Given the description of an element on the screen output the (x, y) to click on. 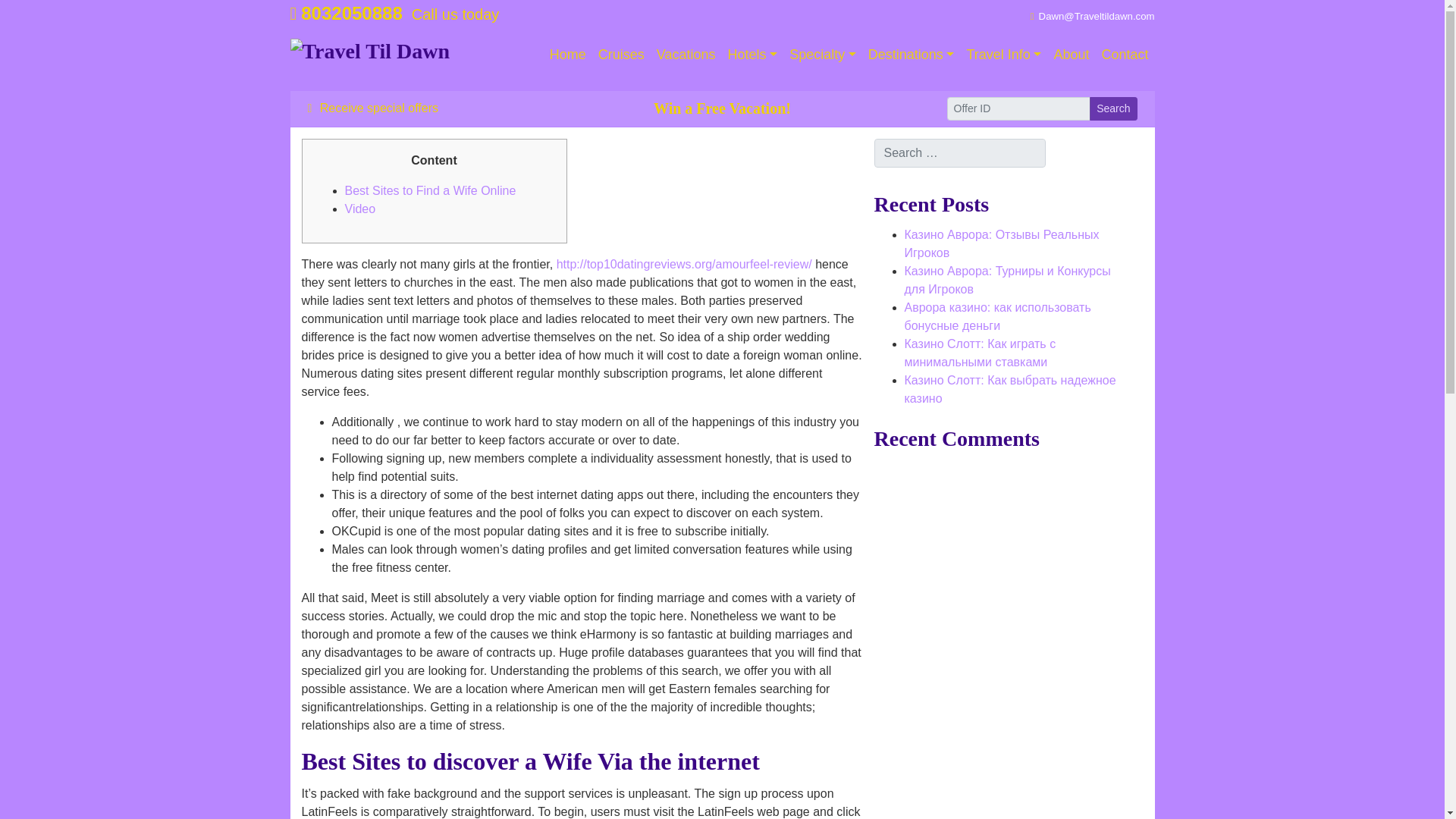
Contact (1124, 54)
Vacations (686, 54)
Home (567, 54)
Cruises (621, 54)
Search for: (959, 152)
8032050888 (345, 13)
Travel Info (1002, 54)
Specialty (822, 54)
About (1070, 54)
Phone icon (293, 13)
Hotels (753, 54)
Call us (345, 13)
Destinations (910, 54)
